Given the description of an element on the screen output the (x, y) to click on. 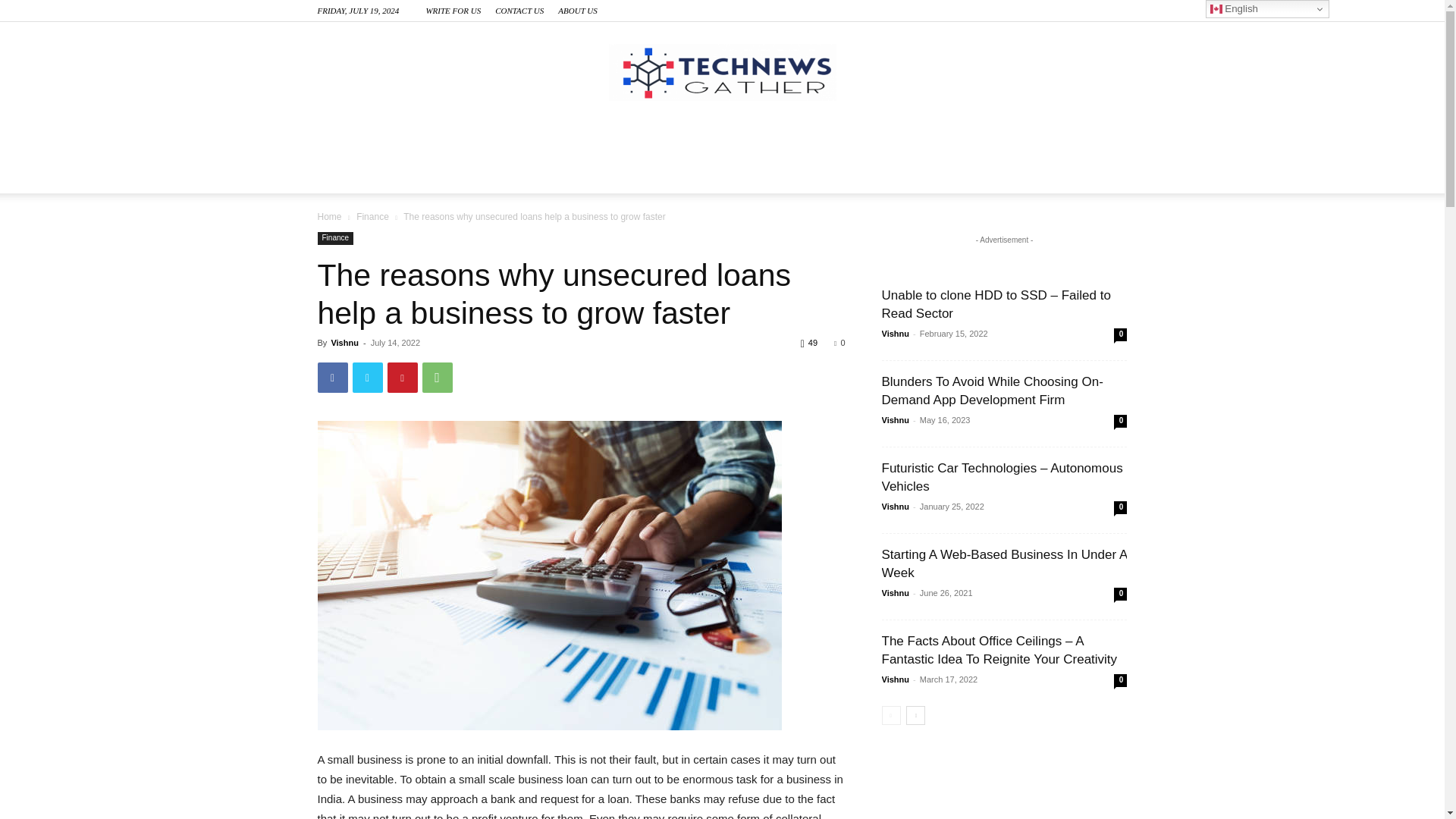
Technewsgather (721, 72)
ABOUT US (576, 10)
TECHNOLOGY (385, 138)
BUSINESS (508, 138)
WRITE FOR US (452, 10)
Technewsgather (721, 72)
CONTACT US (519, 10)
